Given the description of an element on the screen output the (x, y) to click on. 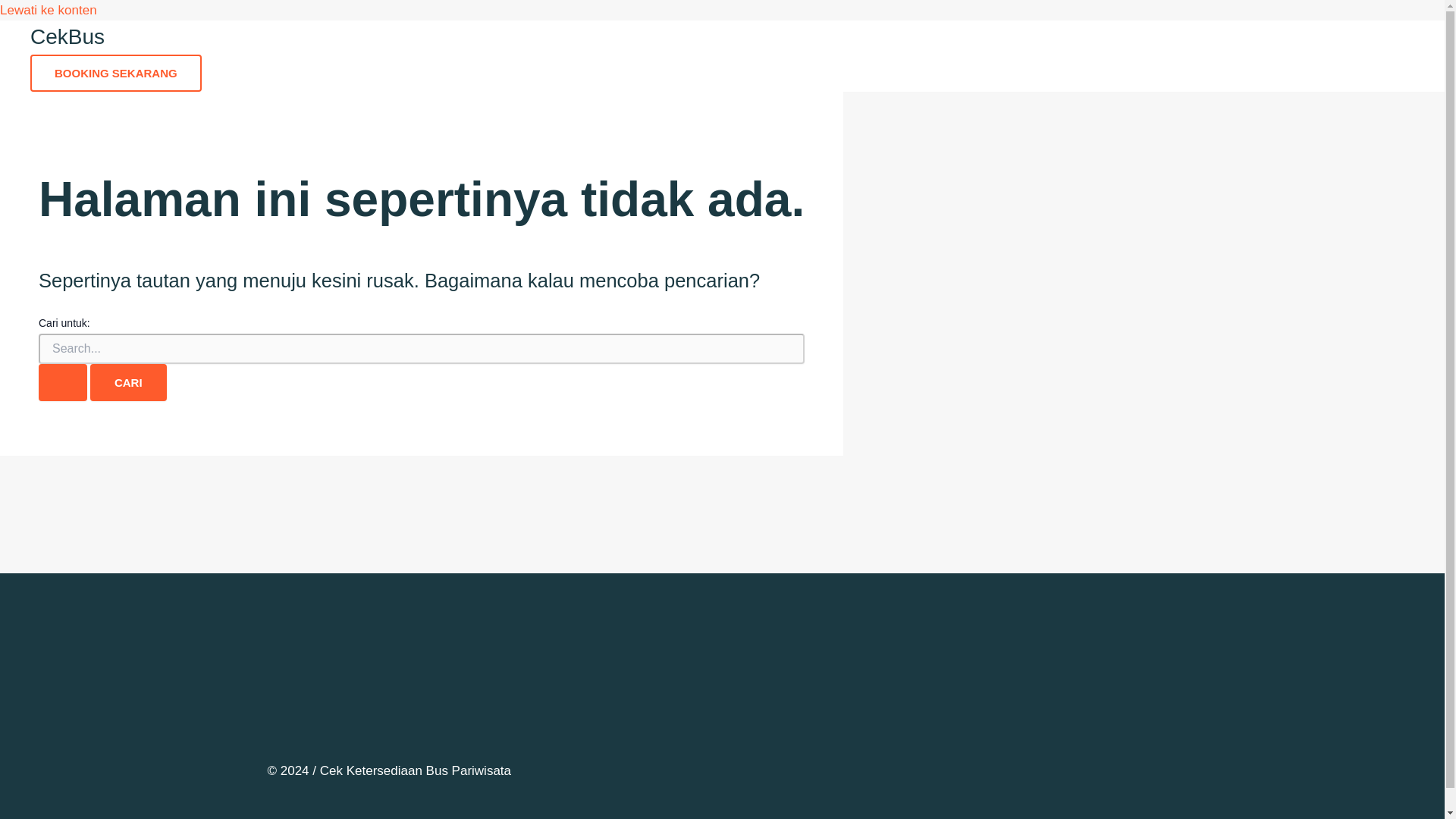
Lewati ke konten (48, 10)
Cari (128, 382)
BOOKING SEKARANG (116, 72)
CekBus (67, 36)
Lewati ke konten (48, 10)
Cari (128, 382)
Cari (128, 382)
